Given the description of an element on the screen output the (x, y) to click on. 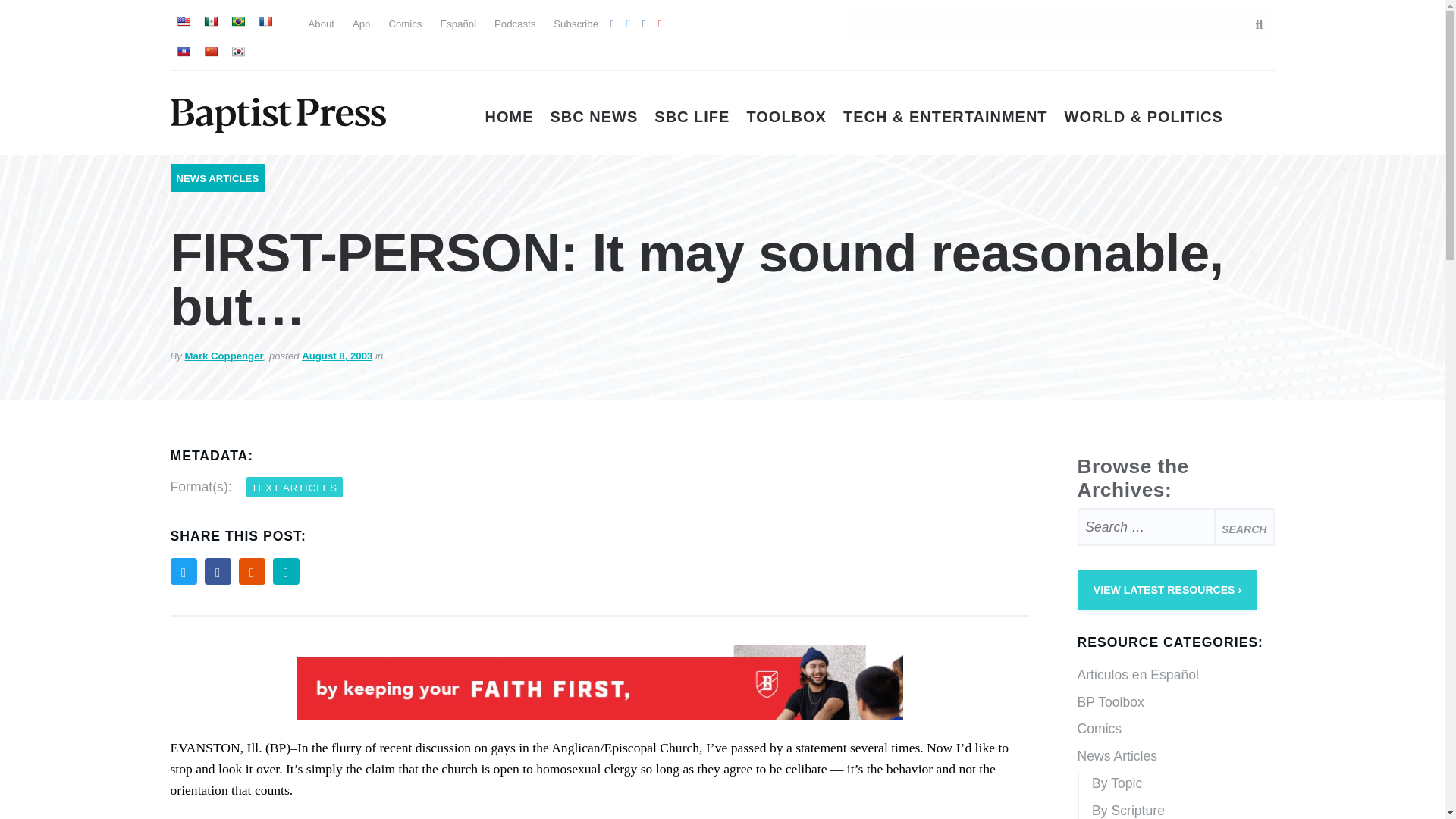
SBC NEWS (594, 116)
Spanish (209, 21)
SBC LIFE (691, 116)
Comics (405, 23)
Podcasts (515, 23)
August 8, 2003 (336, 355)
Haitian (182, 51)
Search (1244, 526)
About (320, 23)
TEXT ARTICLES (294, 486)
HOME (509, 116)
BP Toolbox (1175, 703)
NEWS ARTICLES (217, 178)
TOOLBOX (786, 116)
Korean (237, 51)
